Given the description of an element on the screen output the (x, y) to click on. 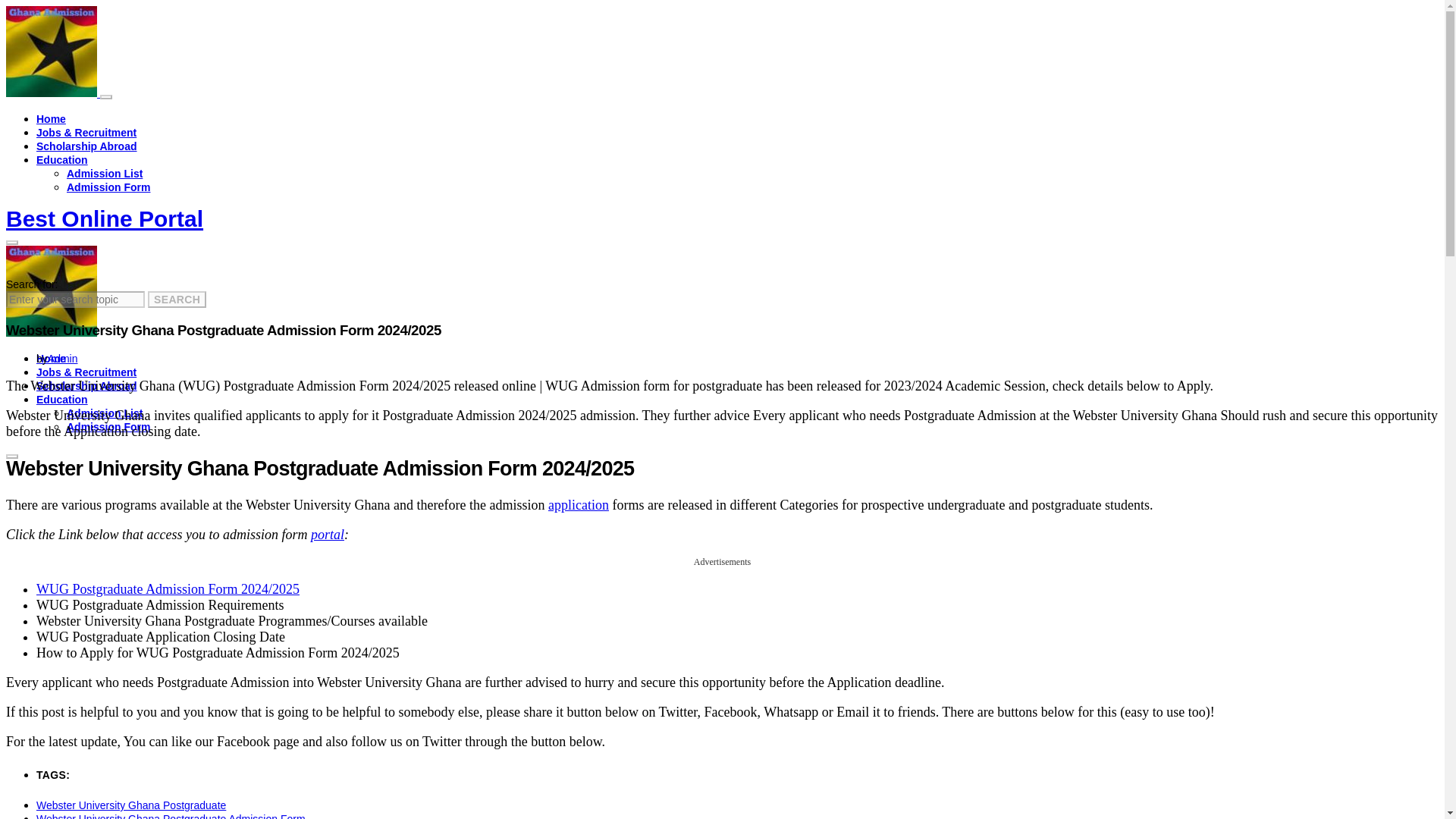
Webster University Ghana Postgraduate (130, 805)
Admission List (104, 173)
portal (327, 534)
Scholarship Abroad (86, 146)
SEARCH (177, 299)
Home (50, 358)
Webster University Ghana Postgraduate Admission Form (170, 816)
Education (61, 399)
Home (50, 119)
Scholarship Abroad (86, 386)
